Given the description of an element on the screen output the (x, y) to click on. 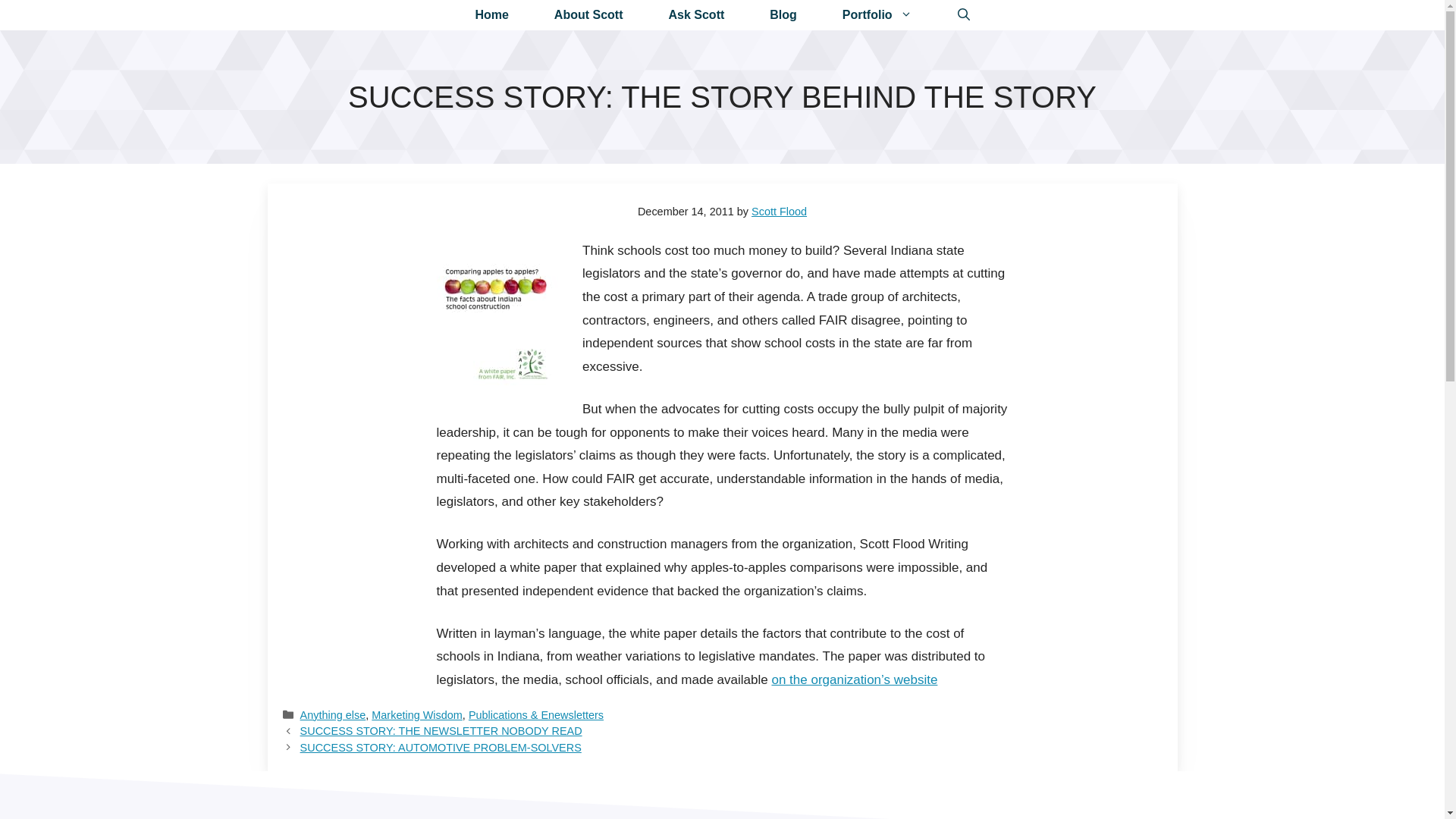
Marketing Wisdom (417, 715)
SUCCESS STORY: AUTOMOTIVE PROBLEM-SOLVERS (439, 747)
Blog (782, 15)
Portfolio (876, 15)
Home (491, 15)
Ask Scott (697, 15)
About Scott (588, 15)
SUCCESS STORY: THE NEWSLETTER NOBODY READ (440, 730)
FAQs (697, 15)
Scott Flood (778, 211)
